Given the description of an element on the screen output the (x, y) to click on. 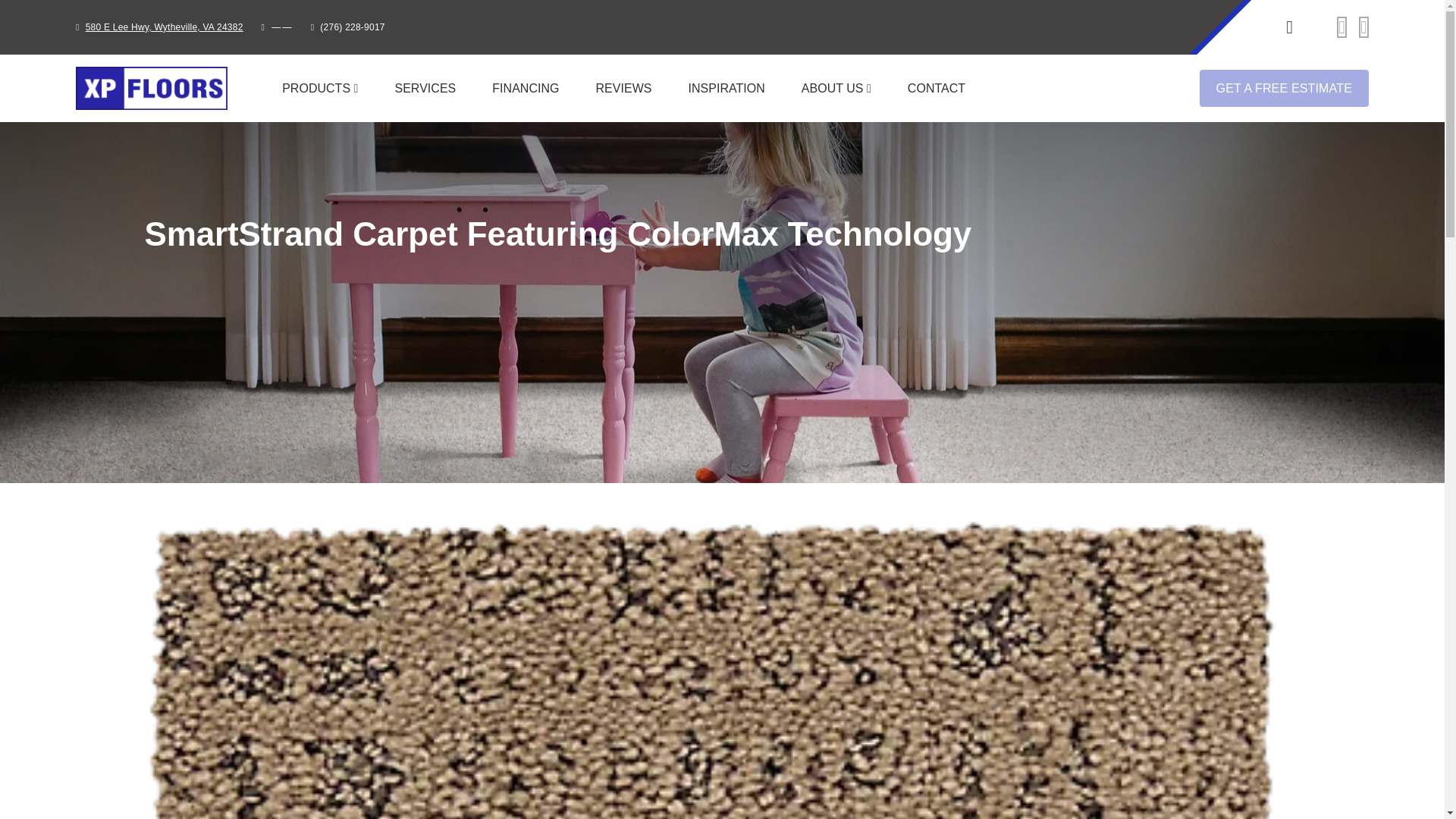
PRODUCTS (320, 88)
580 E Lee Hwy, Wytheville, VA 24382 (164, 27)
